Given the description of an element on the screen output the (x, y) to click on. 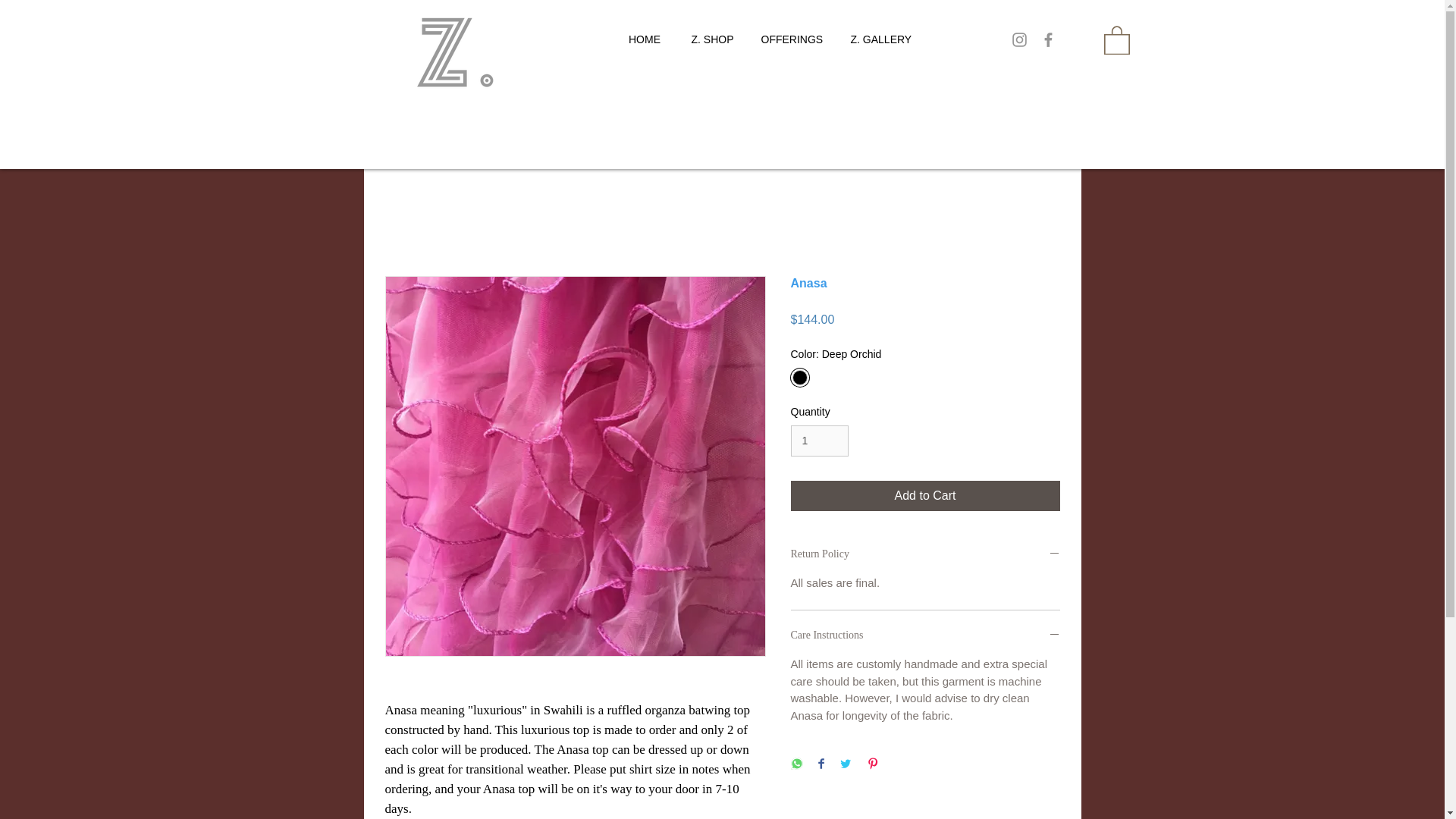
OFFERINGS (790, 39)
Z. GALLERY (877, 39)
Return Policy (924, 554)
1 (818, 440)
Z. SHOP (711, 39)
Care Instructions (924, 635)
HOME (643, 39)
Add to Cart (924, 495)
